Given the description of an element on the screen output the (x, y) to click on. 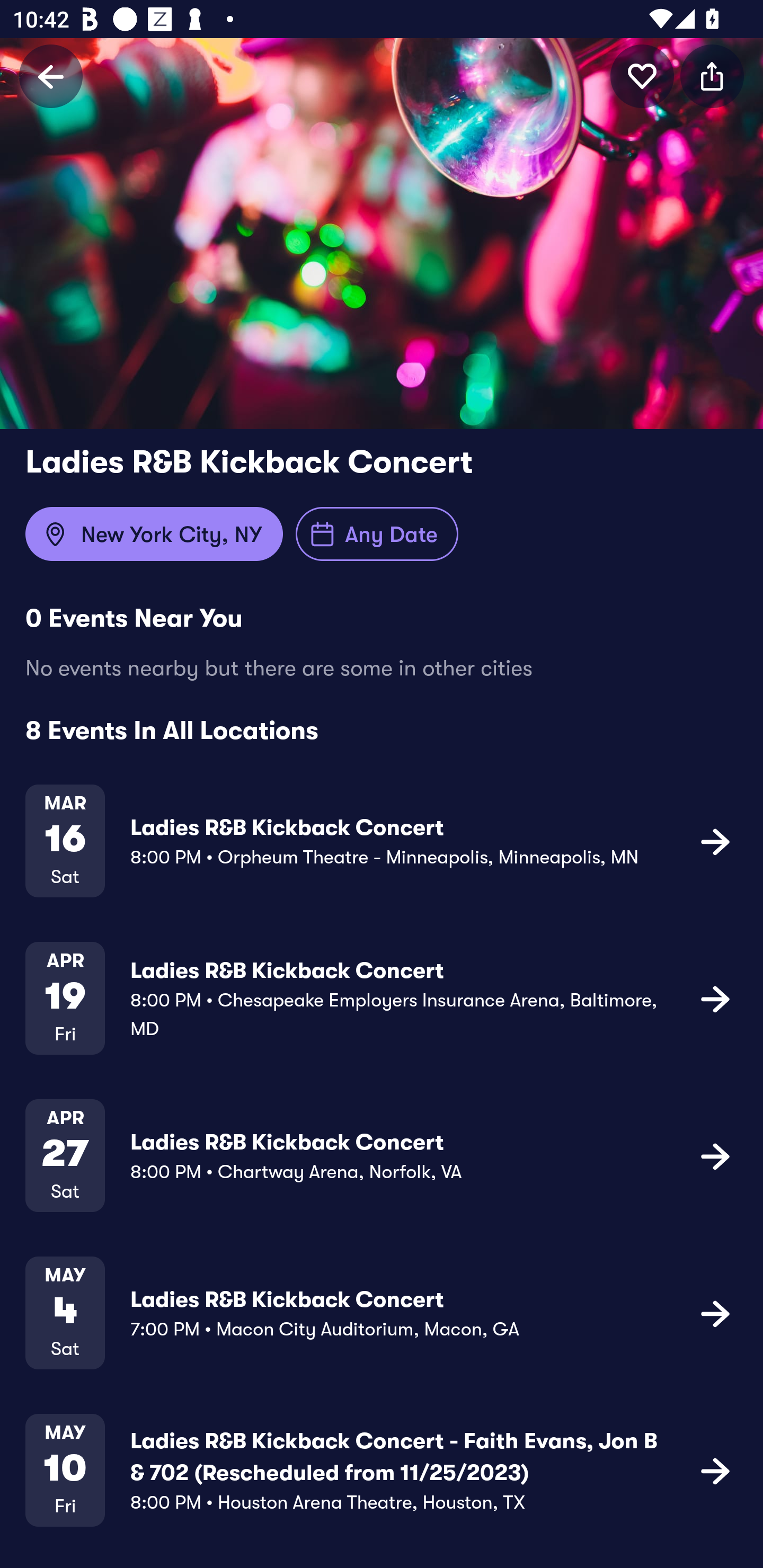
Back (50, 75)
icon button (641, 75)
icon button (711, 75)
New York City, NY (153, 533)
Any Date (377, 533)
icon button (714, 840)
icon button (714, 998)
icon button (714, 1155)
icon button (714, 1312)
icon button (714, 1470)
